Given the description of an element on the screen output the (x, y) to click on. 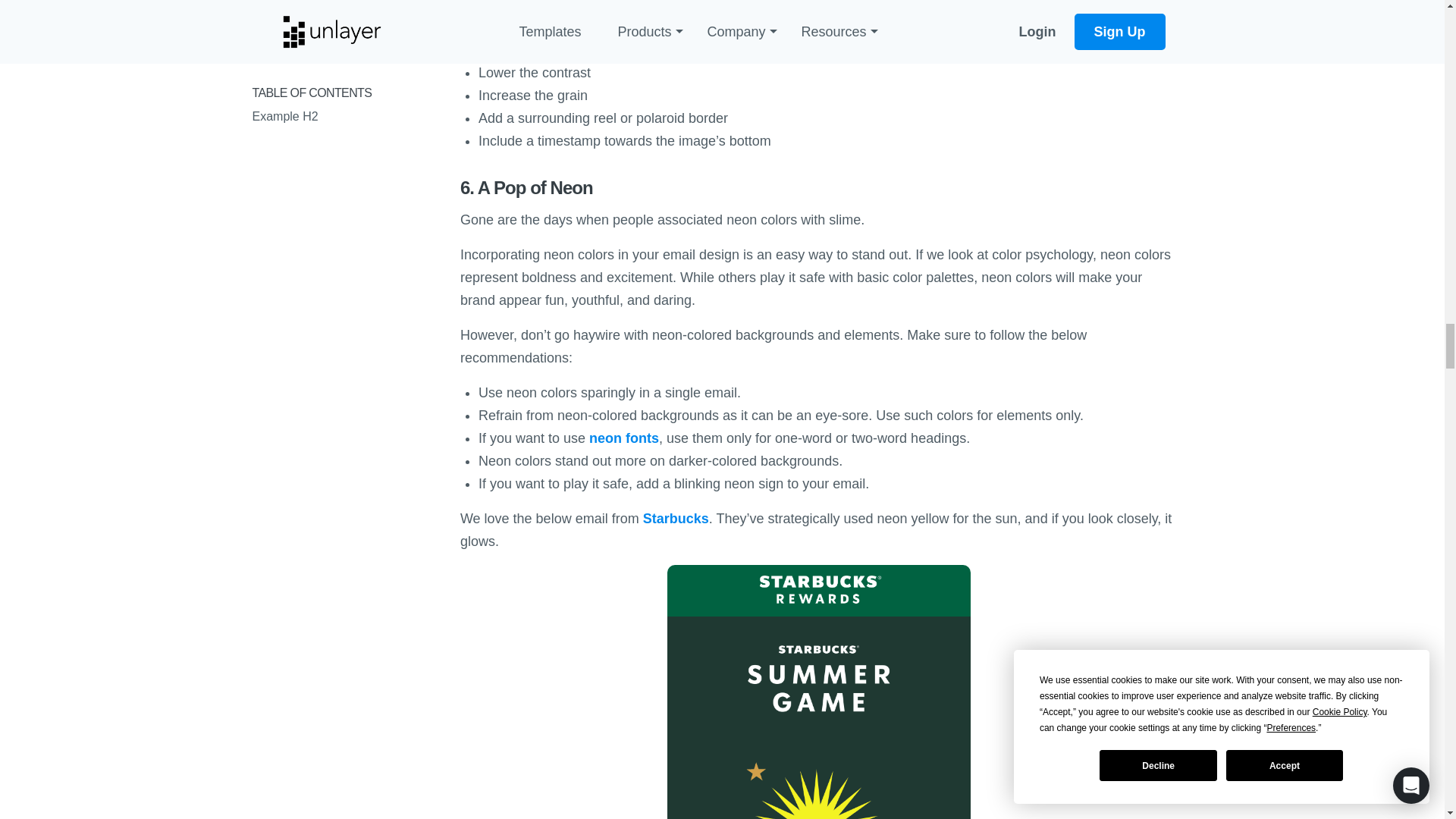
Starbucks (676, 518)
neon fonts (624, 437)
